Given the description of an element on the screen output the (x, y) to click on. 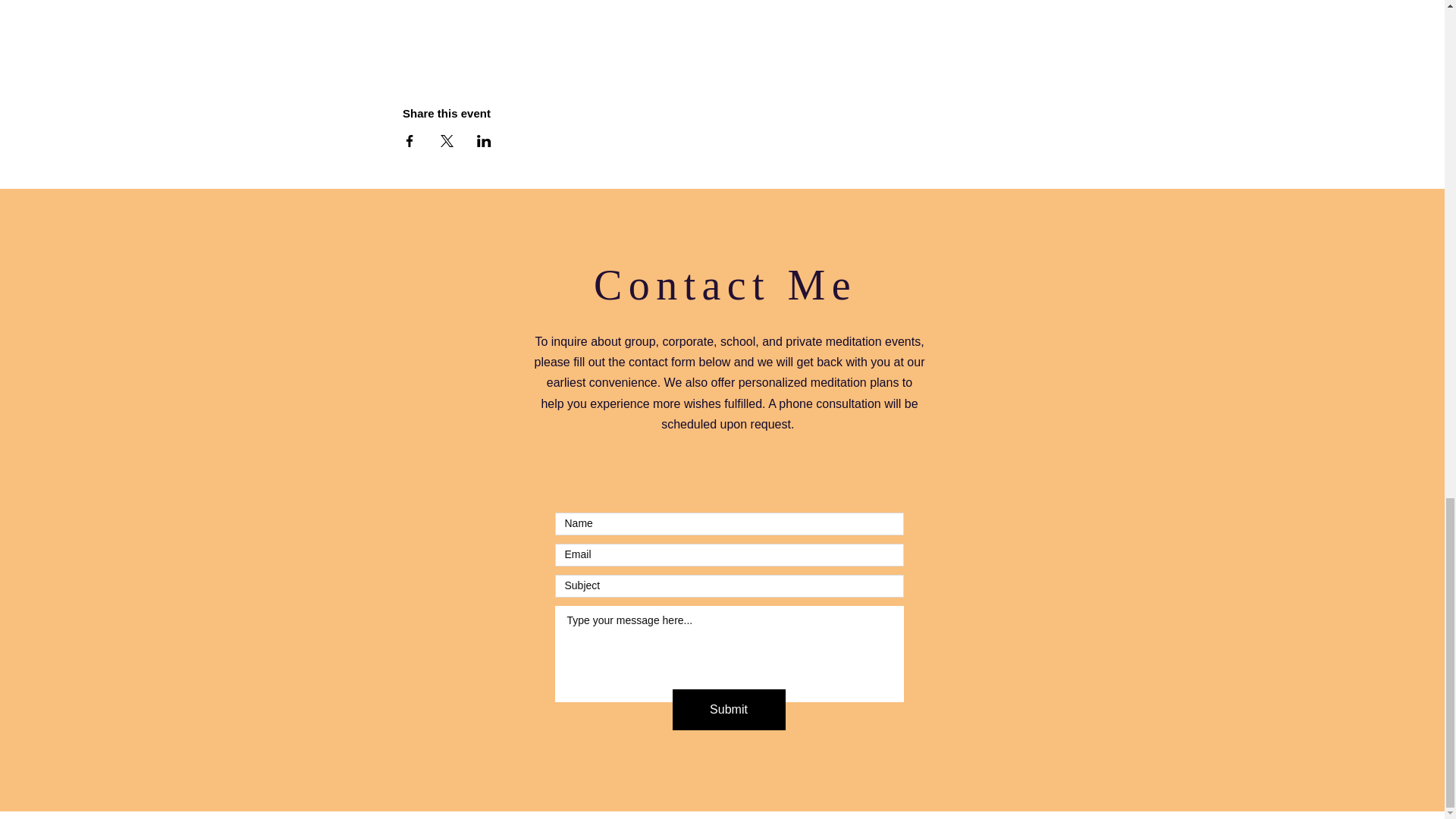
Submit (727, 709)
Submit (728, 425)
Map (721, 30)
